Given the description of an element on the screen output the (x, y) to click on. 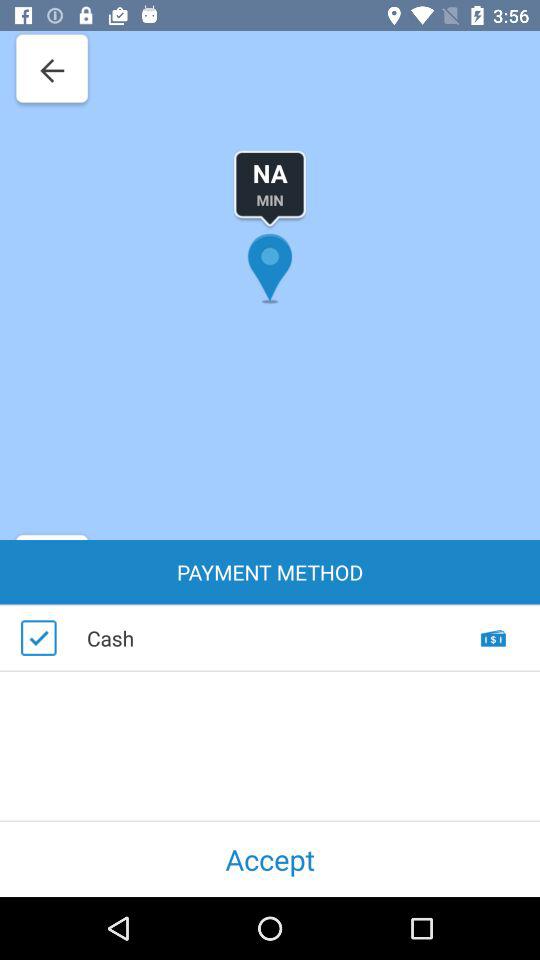
click on the check box left to text cash (39, 637)
select the icon which is after the cash (494, 656)
